Given the description of an element on the screen output the (x, y) to click on. 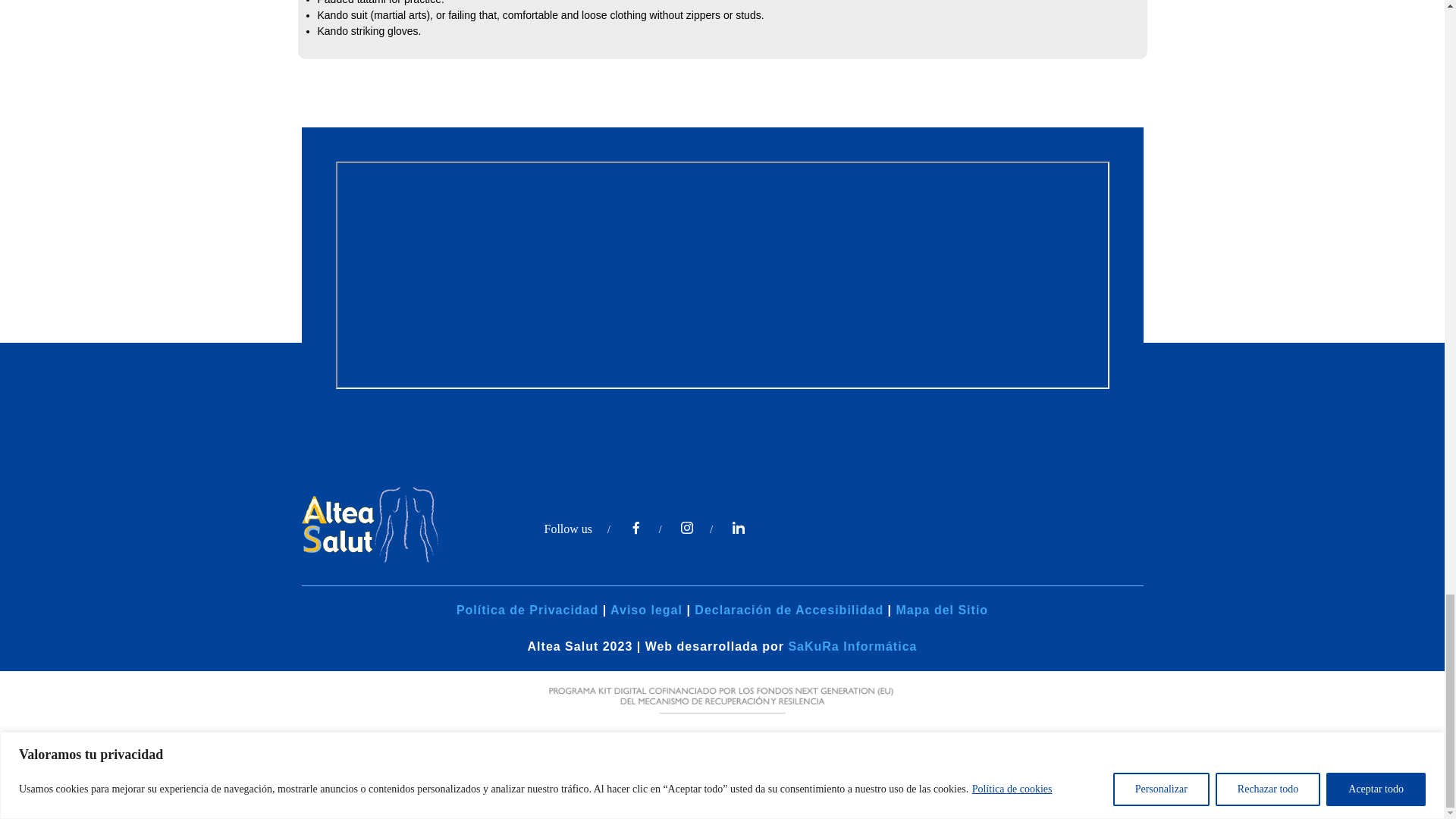
Aviso Legal de AlteaSalut (646, 609)
Politica de Privacidad de AlteaSalut (527, 609)
